Given the description of an element on the screen output the (x, y) to click on. 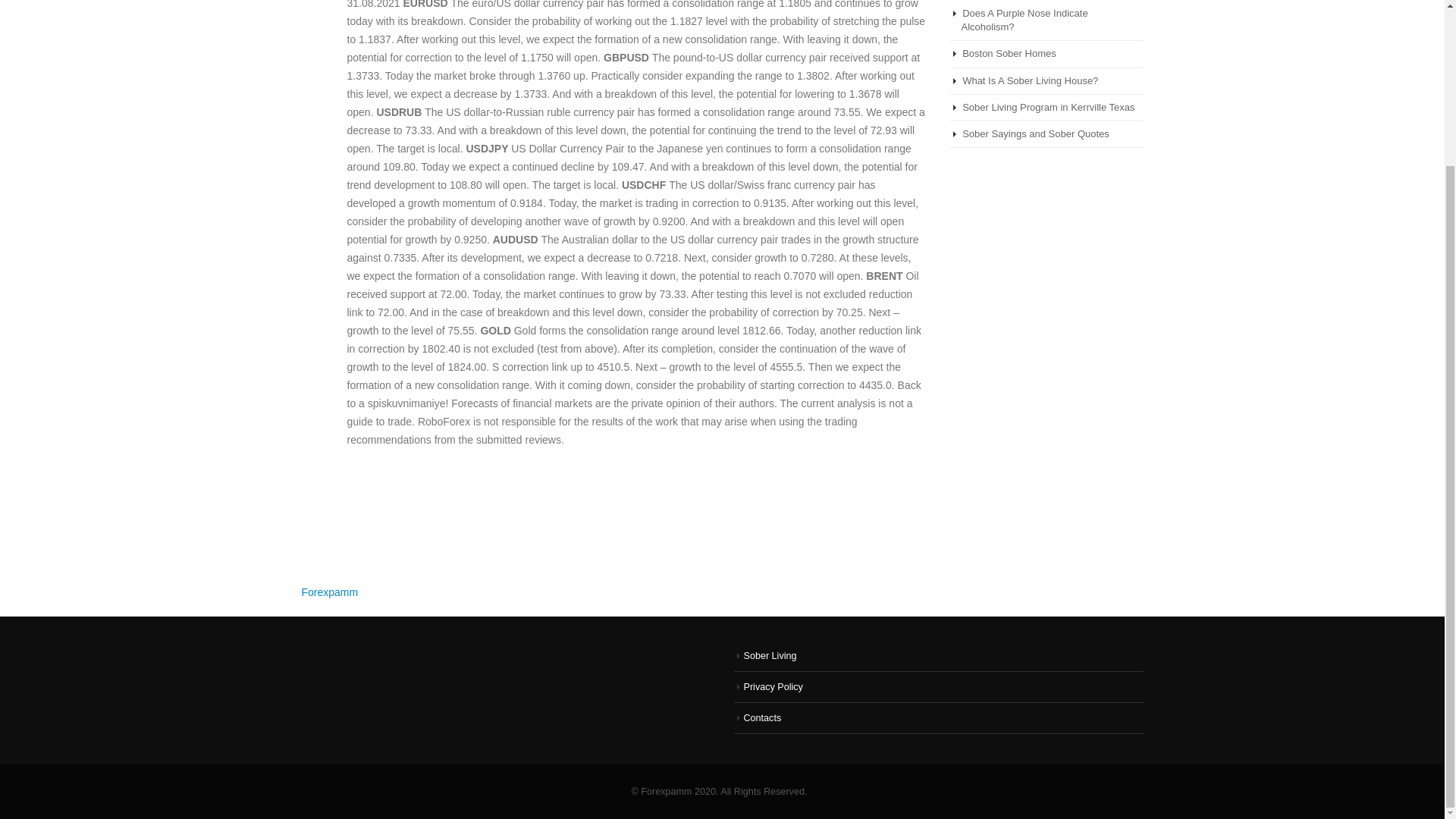
Privacy Policy (772, 686)
What Is A Sober Living House? (1029, 80)
Boston Sober Homes (1009, 52)
Does A Purple Nose Indicate Alcoholism? (1023, 19)
Sober Living Program in Kerrville Texas (1048, 107)
Content Protection by DMCA.com (339, 655)
Sober Sayings and Sober Quotes (1035, 133)
Forexpamm (329, 592)
Contacts (761, 717)
Sober Living (769, 655)
